Given the description of an element on the screen output the (x, y) to click on. 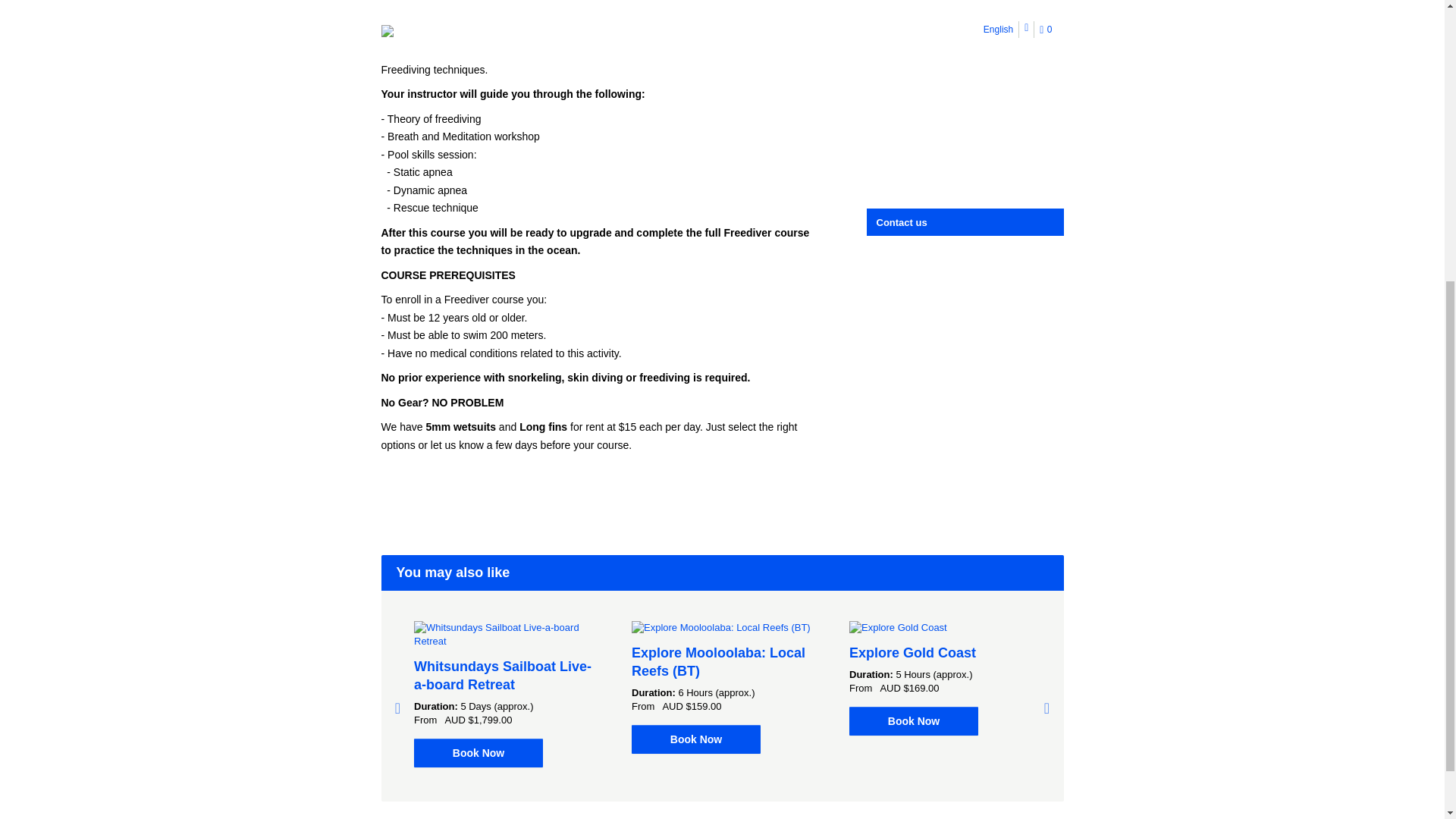
Contact us (965, 221)
Previous (397, 708)
